Given the description of an element on the screen output the (x, y) to click on. 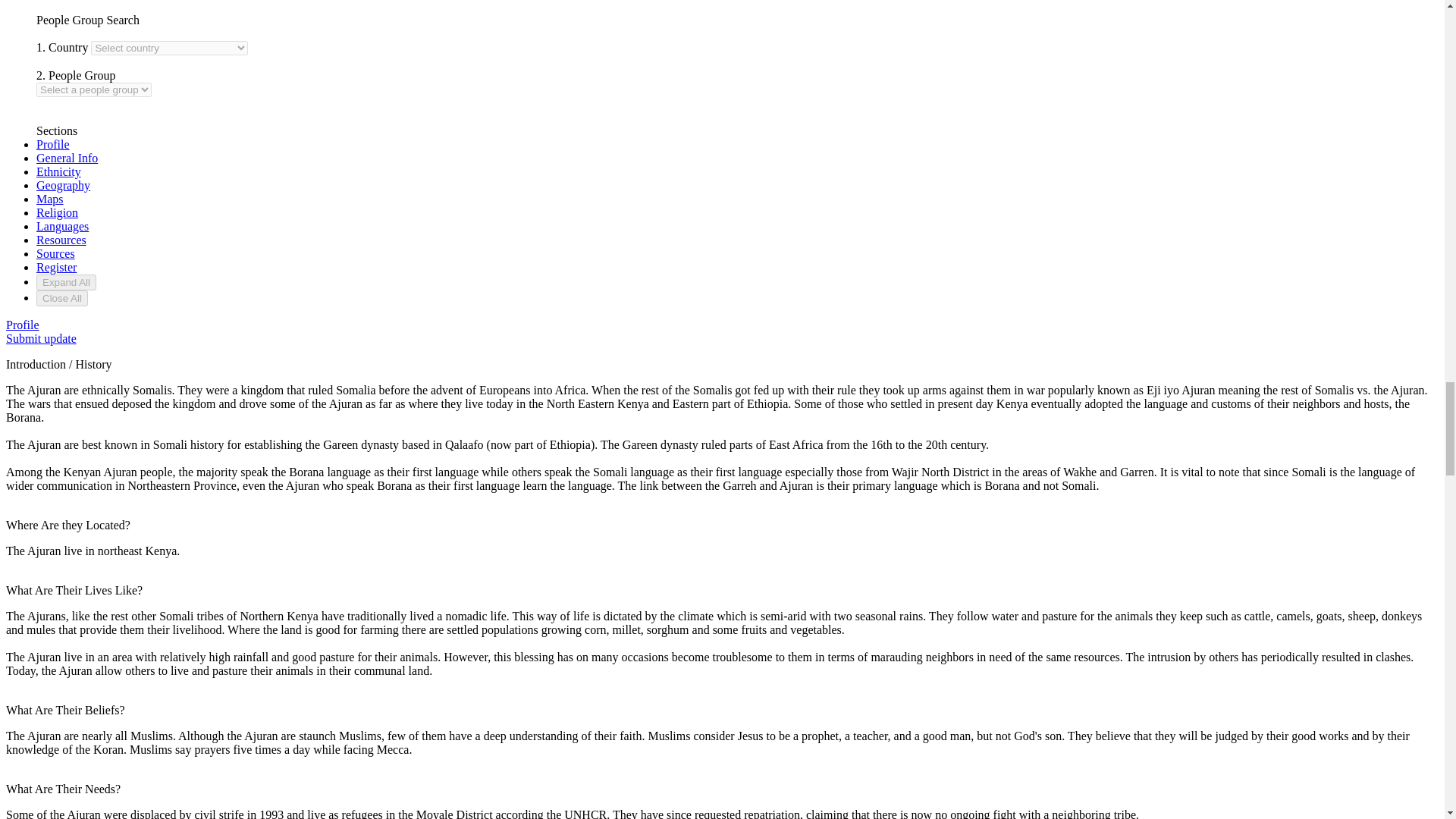
Close All (61, 298)
Expand All (66, 282)
